Given the description of an element on the screen output the (x, y) to click on. 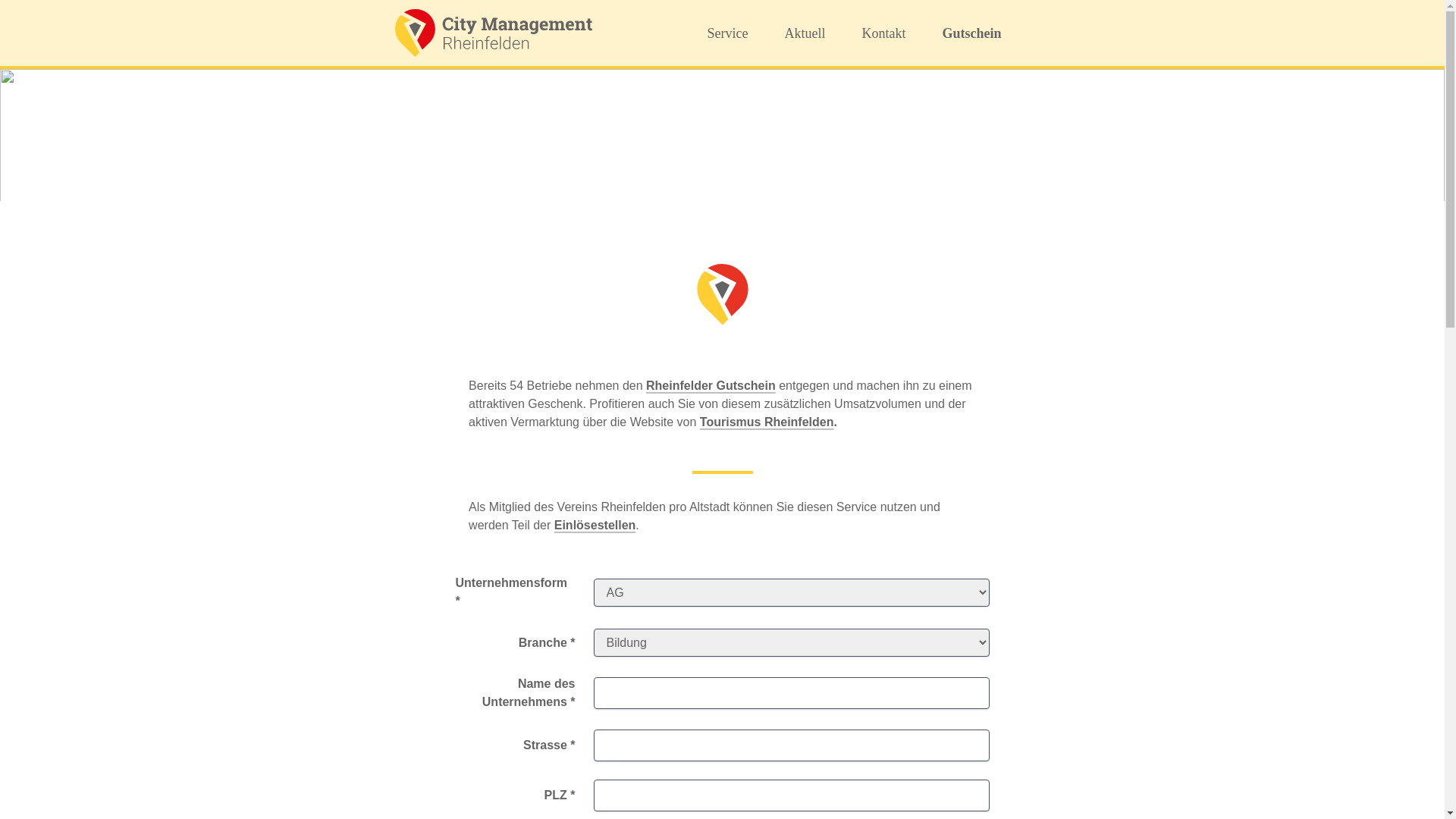
Aktuell Element type: text (804, 32)
Tourismus Rheinfelden Element type: text (766, 421)
Gutschein Element type: text (971, 32)
Rheinfelder Gutschein Element type: text (710, 385)
Kontakt Element type: text (883, 32)
Service Element type: text (726, 32)
